Given the description of an element on the screen output the (x, y) to click on. 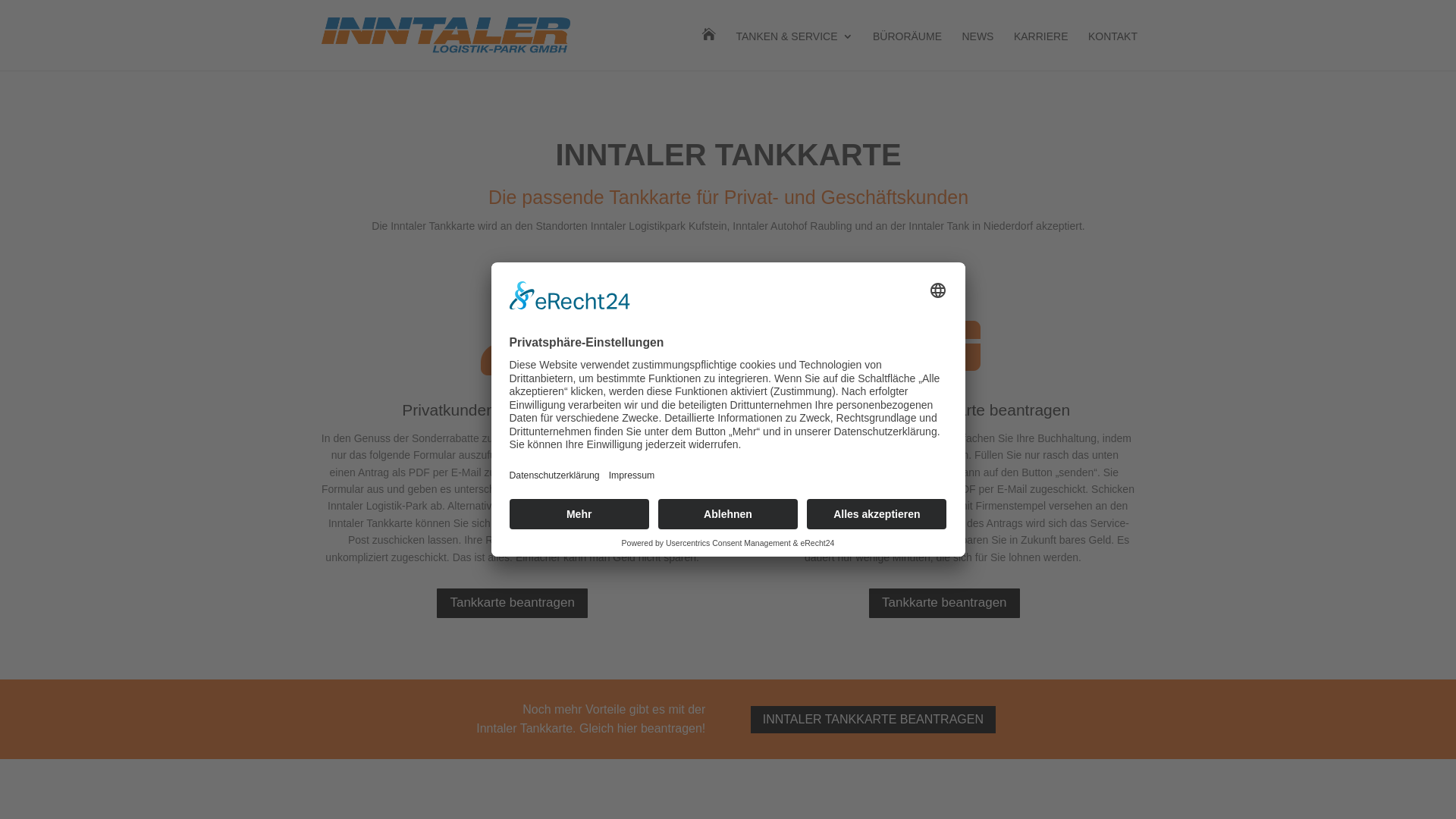
Tankkarte beantragen Element type: text (511, 603)
KARRIERE Element type: text (1040, 50)
Tankkarte beantragen Element type: text (944, 603)
INNTALER TANKKARTE BEANTRAGEN Element type: text (872, 720)
TANKEN & SERVICE Element type: text (793, 50)
KONTAKT Element type: text (1112, 50)
NEWS Element type: text (977, 50)
